Given the description of an element on the screen output the (x, y) to click on. 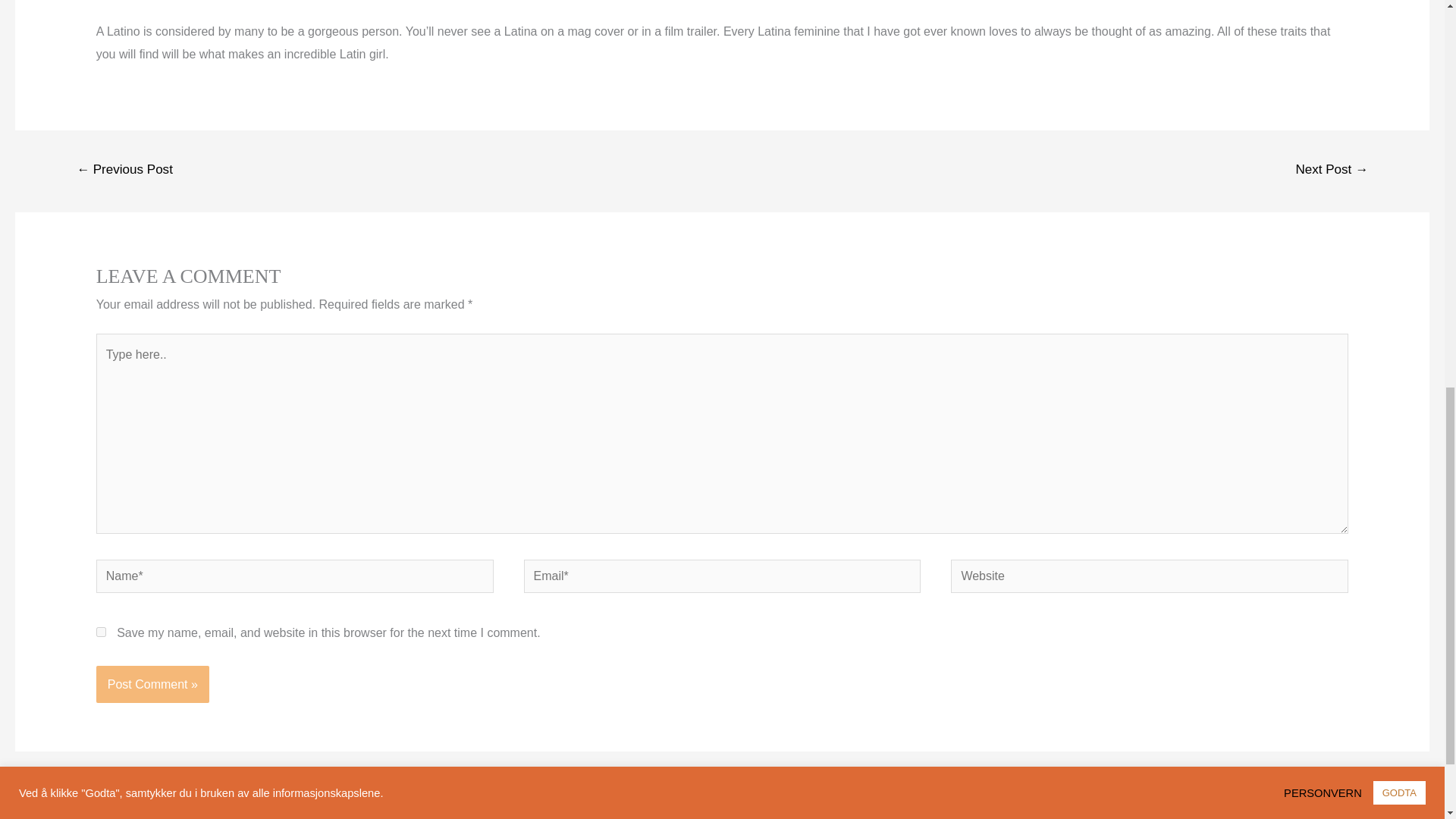
KONTAKT (1049, 813)
OM MEG (391, 813)
PERSONVERN (873, 813)
COVID-19 (969, 813)
TIMEBESTILLING (755, 813)
PRIS (550, 813)
TJENESTER (477, 813)
yes (101, 632)
